Given the description of an element on the screen output the (x, y) to click on. 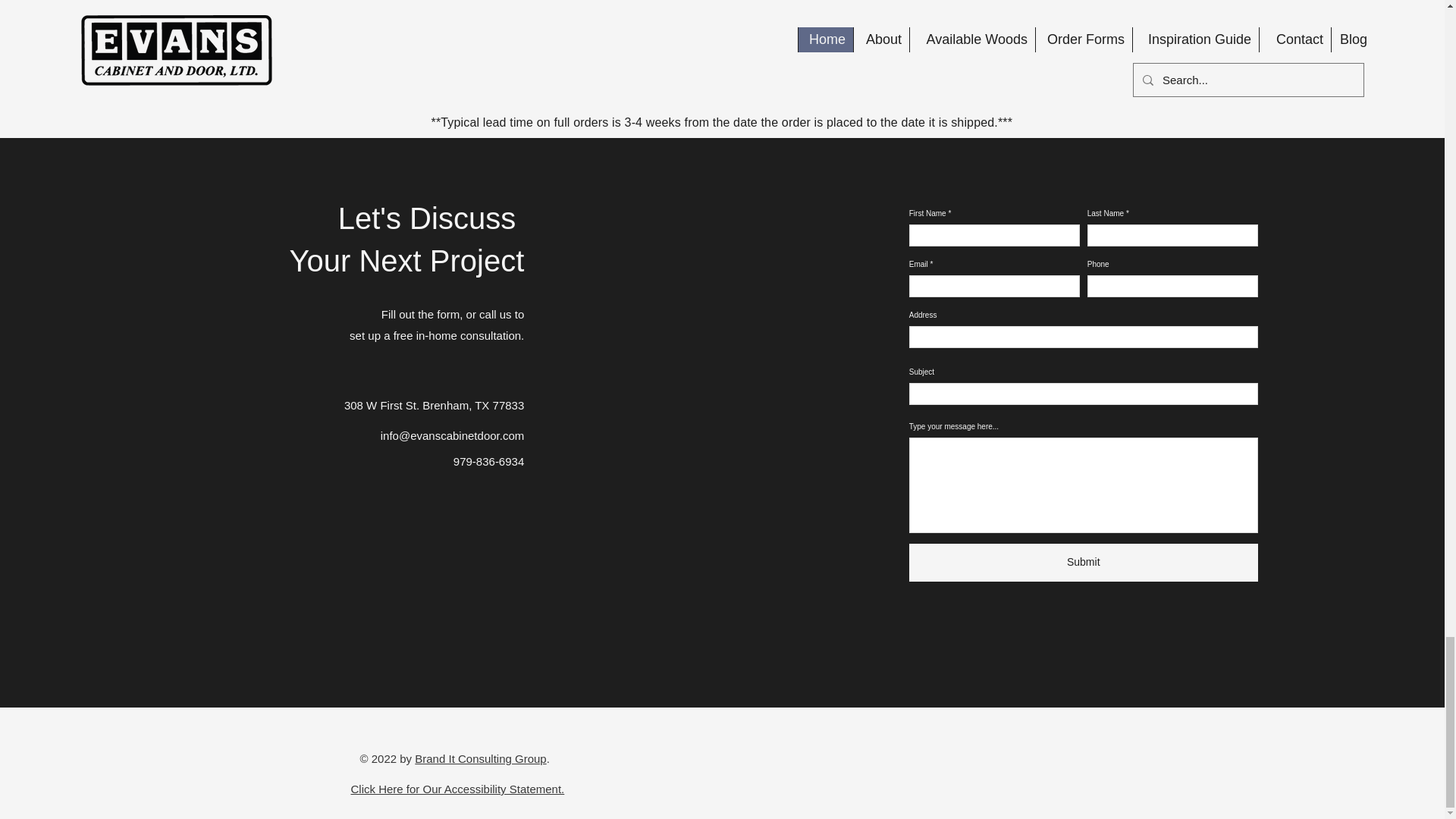
Click Here for Our Accessibility Statement. (457, 788)
Brand It Consulting Group (480, 758)
Submit (1082, 562)
